Given the description of an element on the screen output the (x, y) to click on. 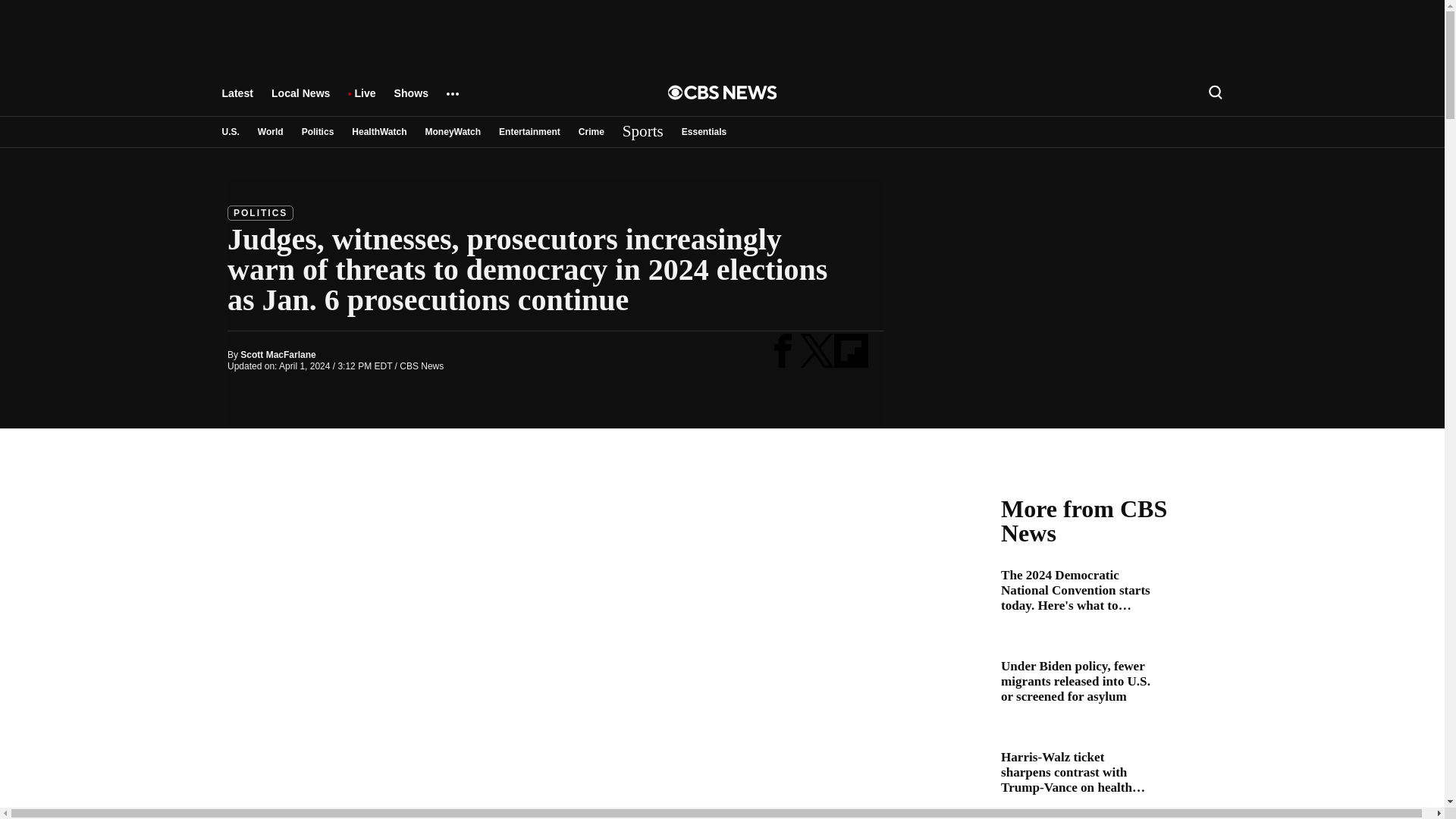
Local News (300, 100)
Latest (236, 100)
